Given the description of an element on the screen output the (x, y) to click on. 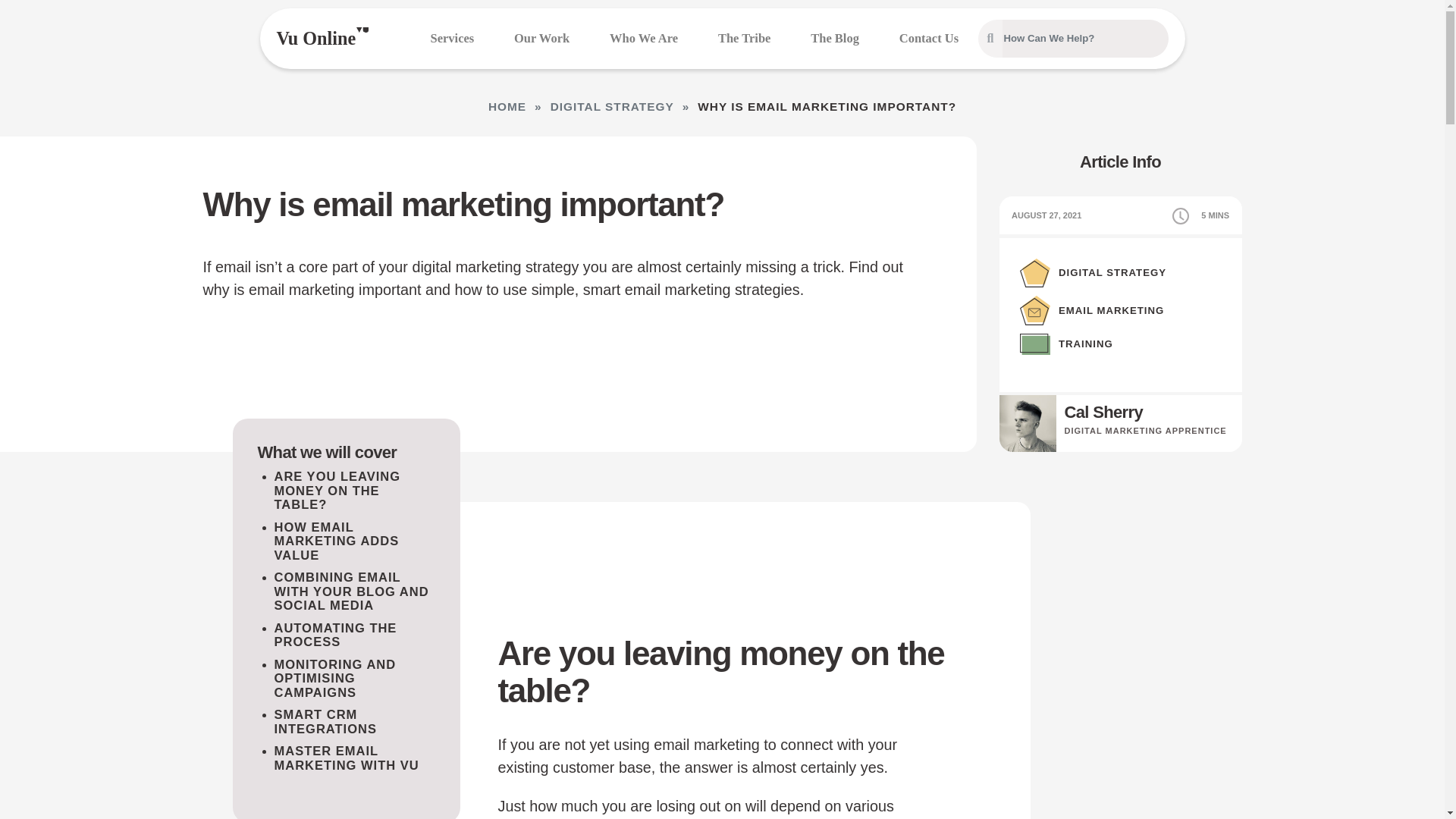
Services (452, 38)
Vu Online (315, 38)
